Given the description of an element on the screen output the (x, y) to click on. 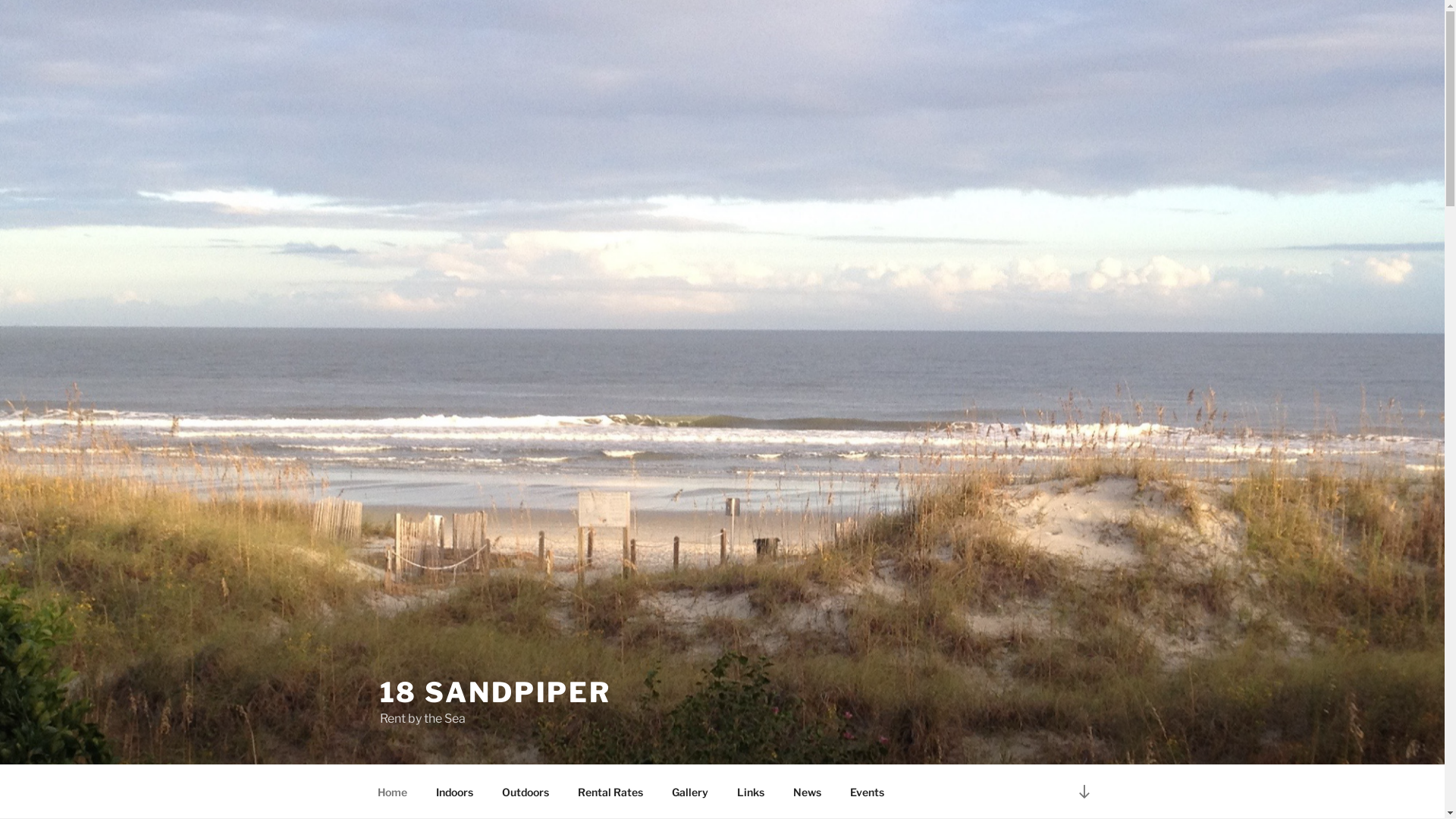
Links Element type: text (750, 791)
Rental Rates Element type: text (609, 791)
Gallery Element type: text (689, 791)
Outdoors Element type: text (524, 791)
Home Element type: text (392, 791)
18 SANDPIPER Element type: text (495, 692)
News Element type: text (806, 791)
Indoors Element type: text (454, 791)
Skip to content Element type: text (0, 0)
Scroll down to content Element type: text (1083, 790)
Events Element type: text (867, 791)
